Given the description of an element on the screen output the (x, y) to click on. 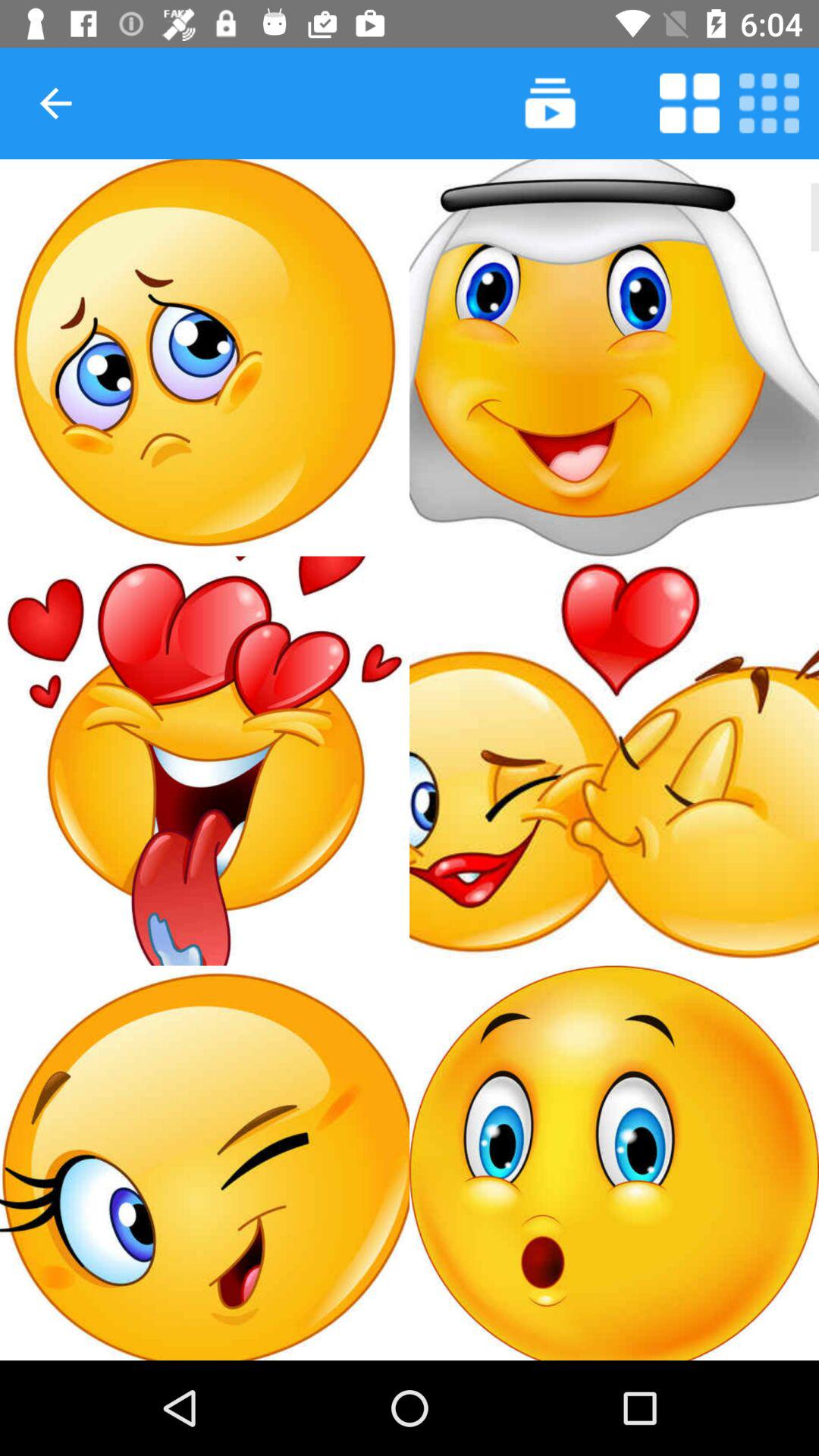
select picture of kissing emojis (614, 760)
